Given the description of an element on the screen output the (x, y) to click on. 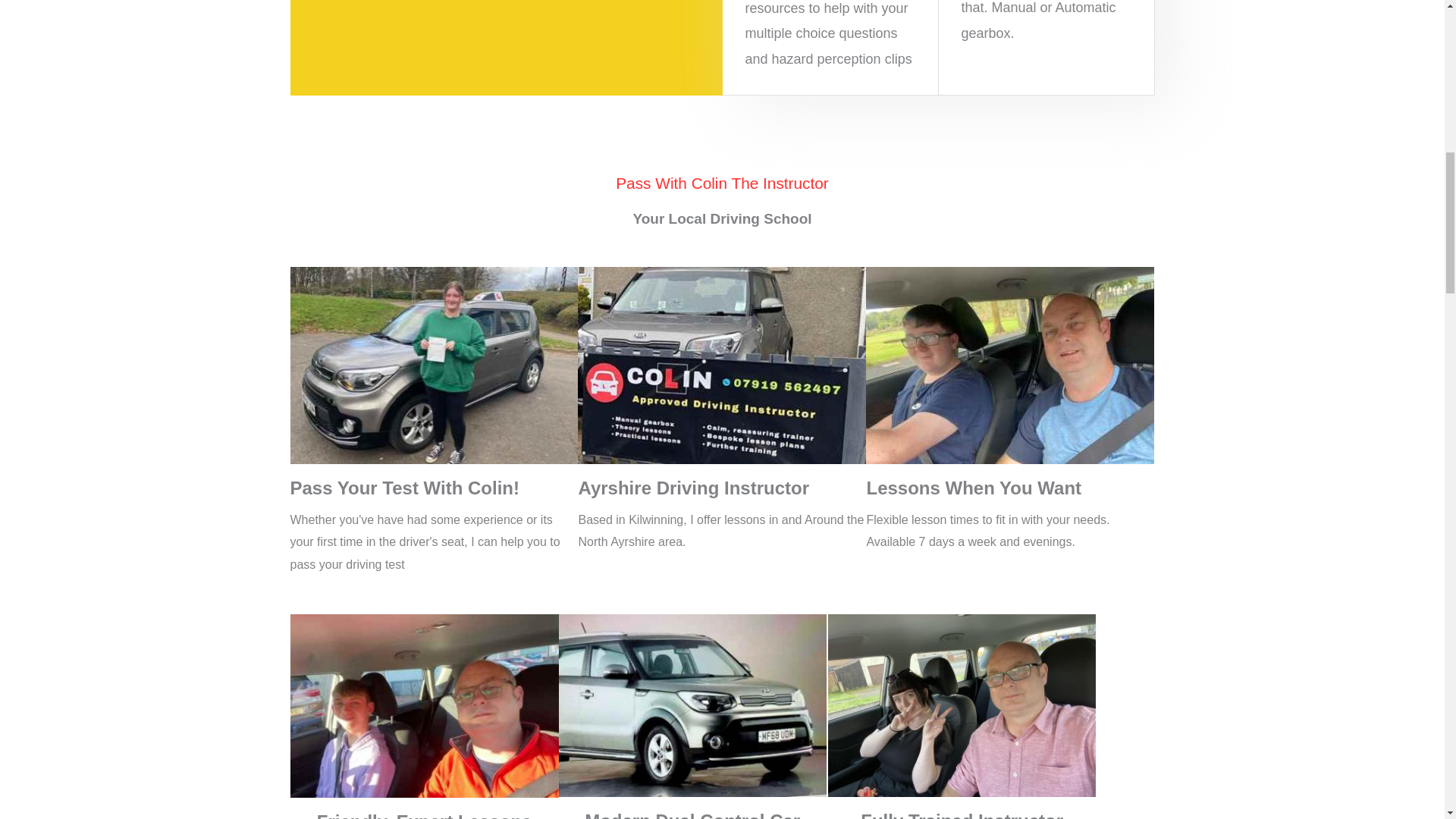
3 (423, 705)
6 (722, 365)
4 (693, 705)
2 (1010, 365)
1 (433, 365)
